Given the description of an element on the screen output the (x, y) to click on. 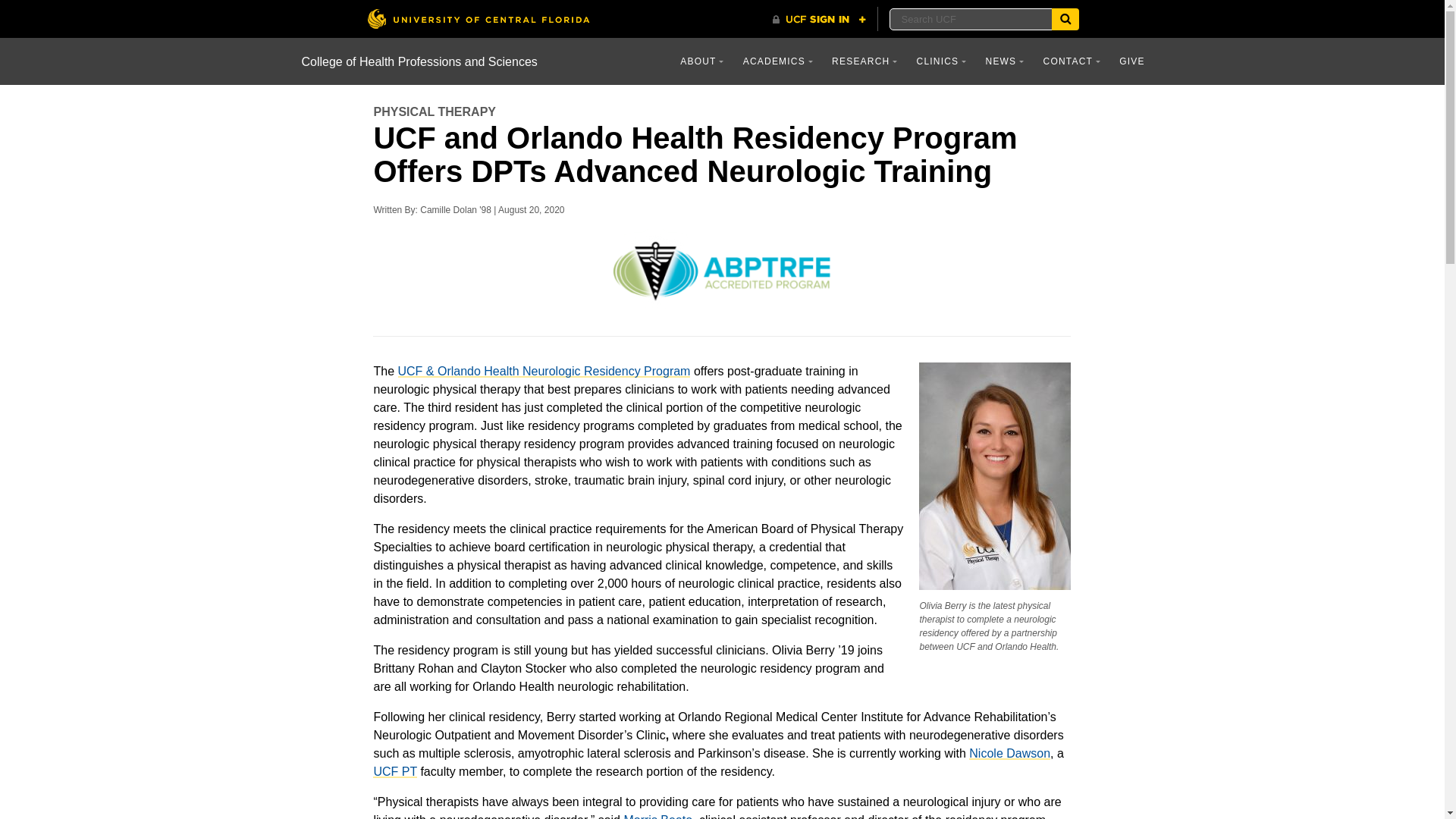
College of Health Professions and Sciences (419, 60)
CLINICS (941, 61)
Search (1064, 19)
RESEARCH (863, 61)
ACADEMICS (777, 61)
accredited-program-logo (721, 268)
ABOUT (701, 61)
